Given the description of an element on the screen output the (x, y) to click on. 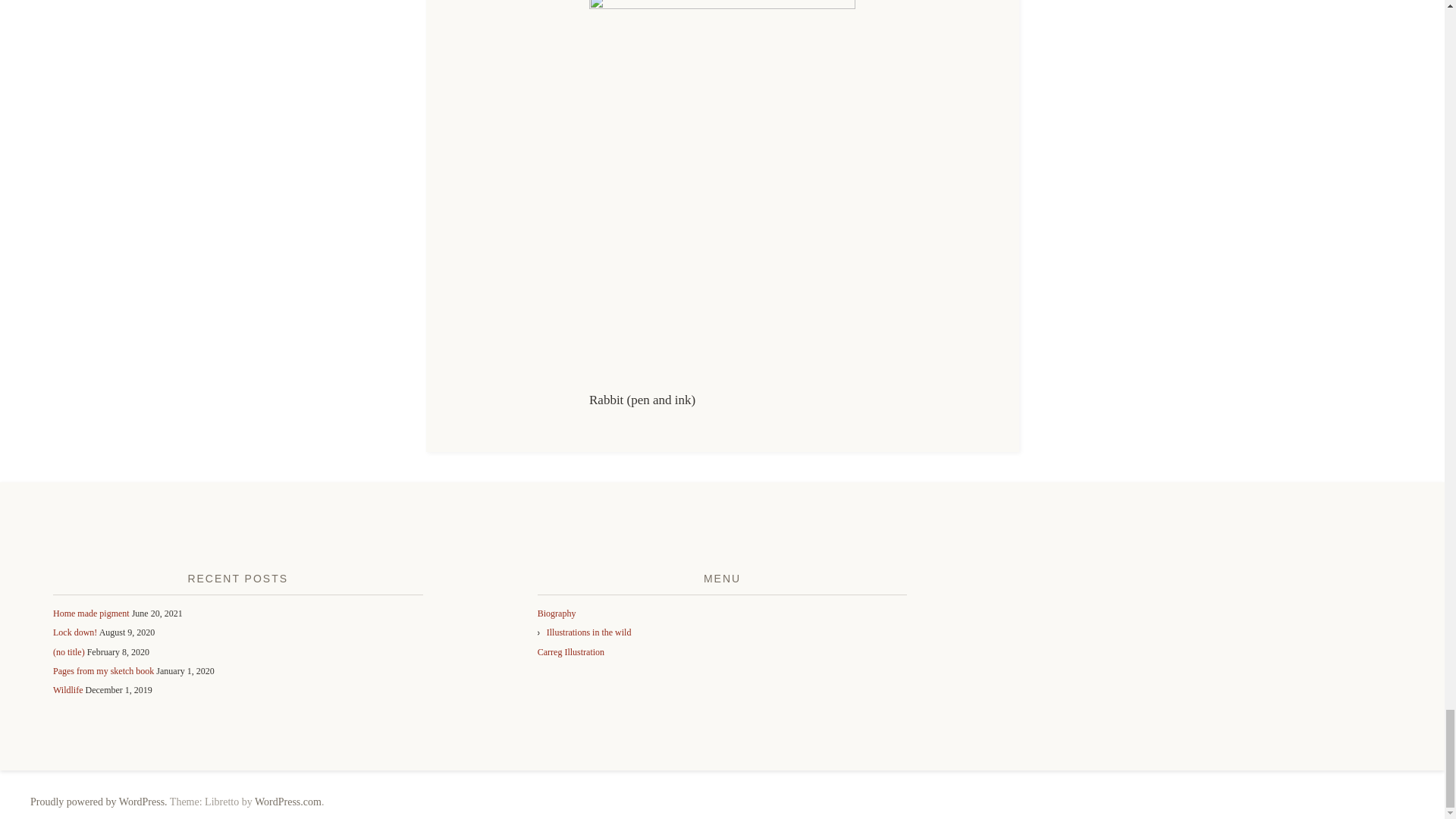
Lock down! (74, 632)
Biography (556, 613)
Carreg Illustration (570, 652)
Wildlife (67, 689)
Home made pigment (90, 613)
Illustrations in the wild (589, 632)
Proudly powered by WordPress. (98, 801)
WordPress.com (287, 801)
Pages from my sketch book (103, 670)
